Given the description of an element on the screen output the (x, y) to click on. 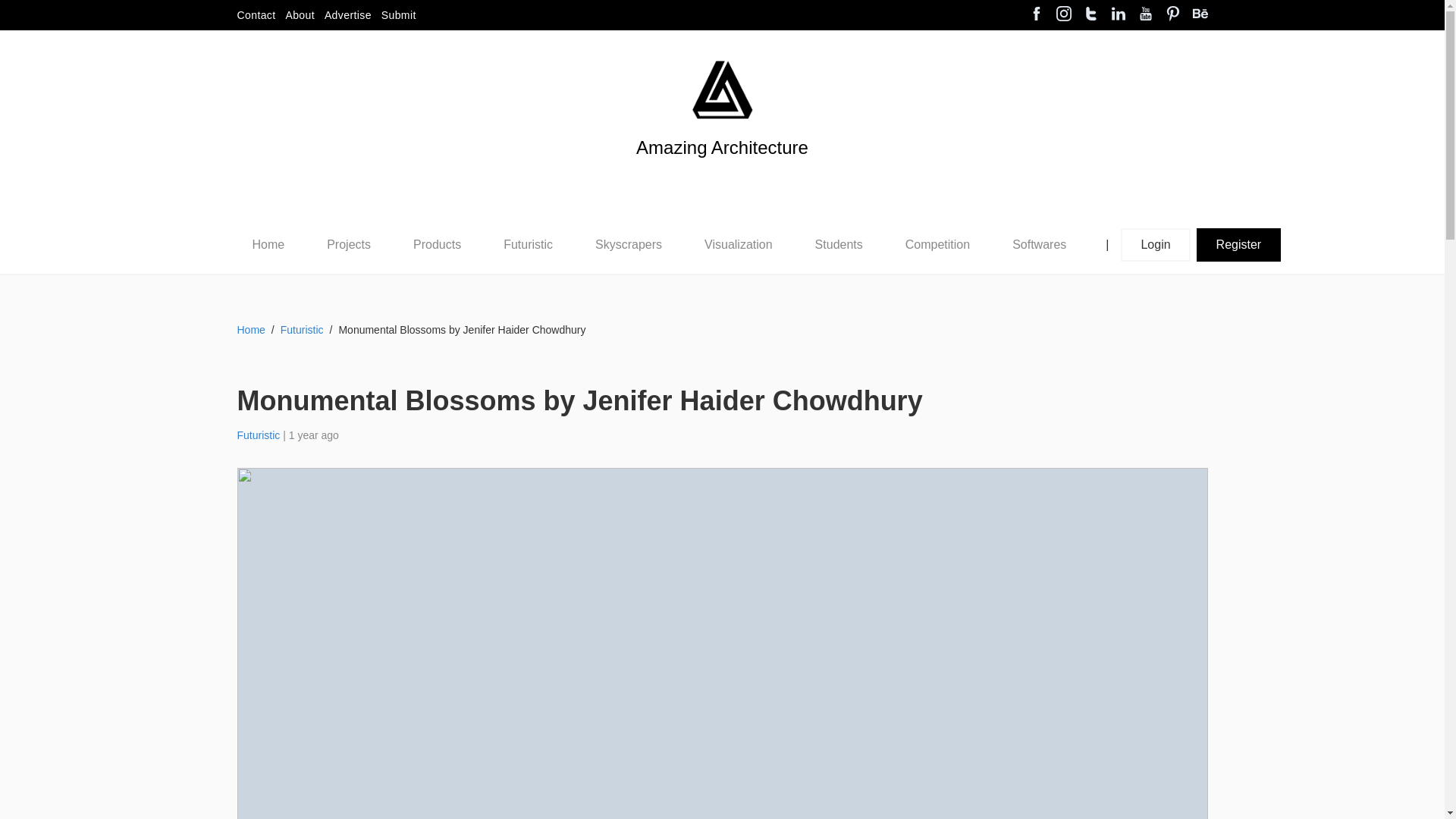
Projects (348, 245)
Contact us page (255, 15)
Home (267, 244)
Products (437, 244)
Submit (398, 15)
Amazing Architecture (721, 88)
Submit page (398, 15)
Amazing Architecture (722, 173)
Projects (348, 244)
Skyscrapers (628, 244)
Advertise (347, 15)
Contact (255, 15)
About (299, 15)
Amazing Architecture (722, 173)
Projects (348, 244)
